Given the description of an element on the screen output the (x, y) to click on. 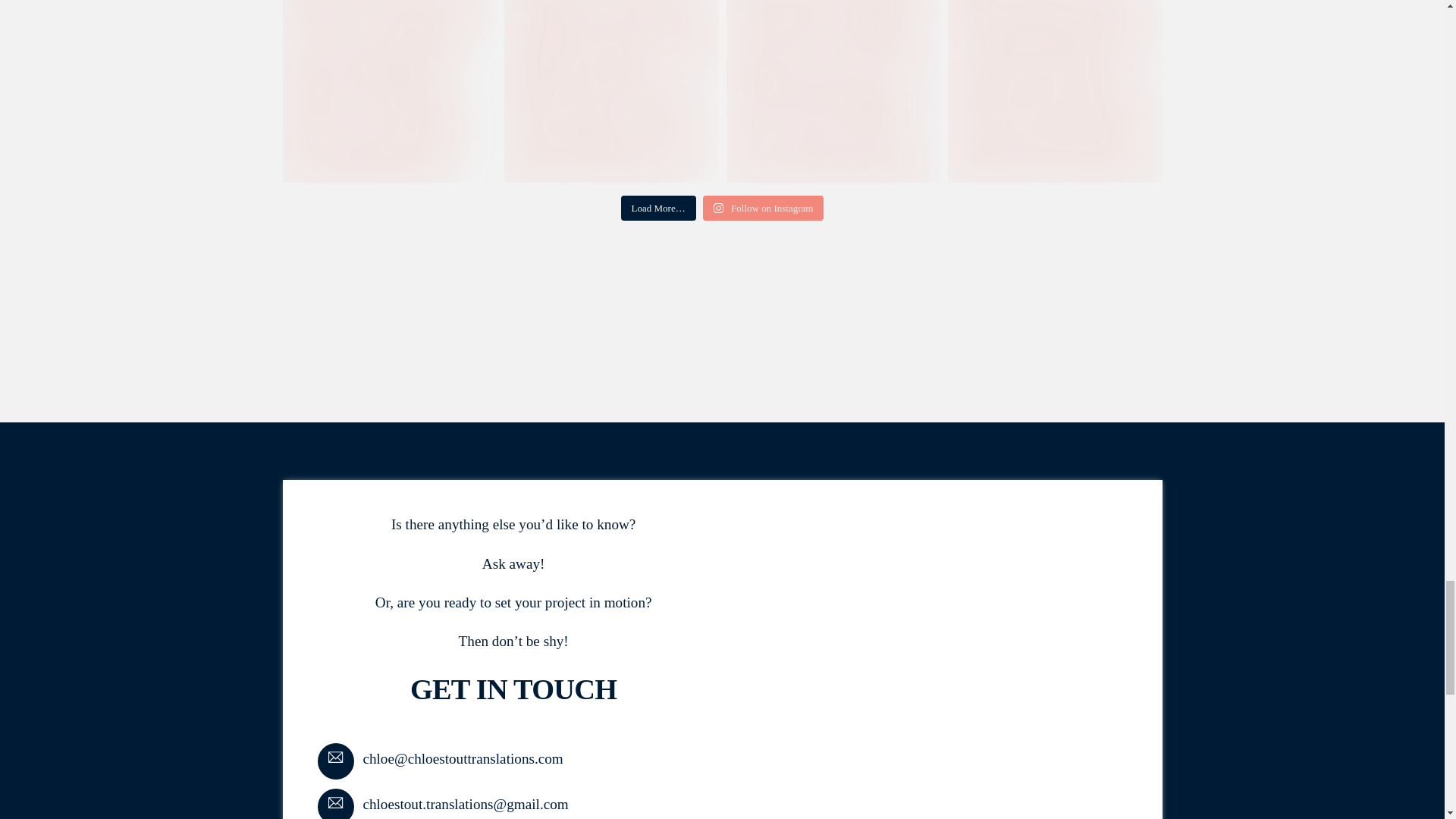
Follow on Instagram (763, 208)
Chloe Stout Translations (930, 670)
